Given the description of an element on the screen output the (x, y) to click on. 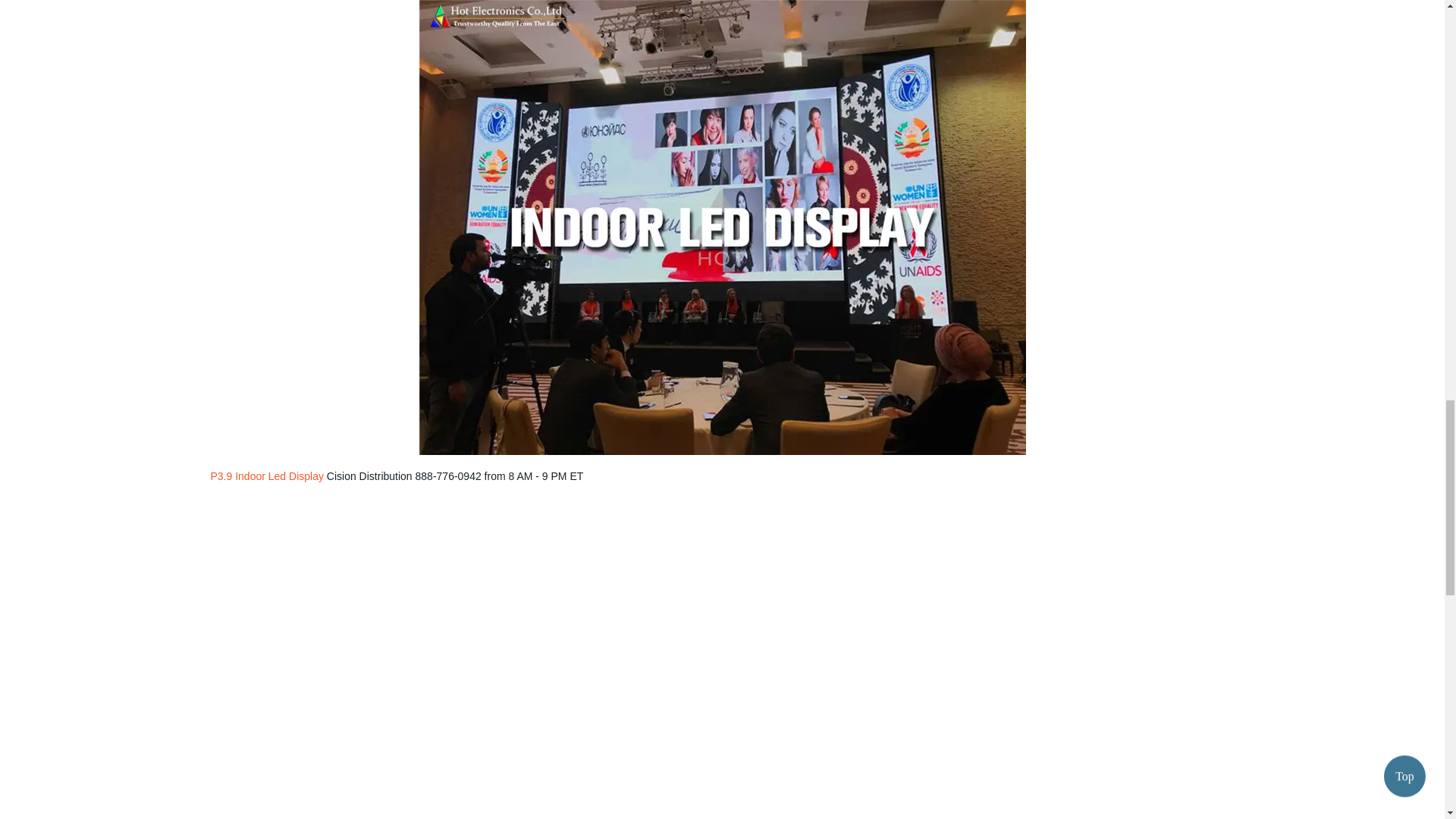
P3.9 Indoor Led Display (267, 476)
